Given the description of an element on the screen output the (x, y) to click on. 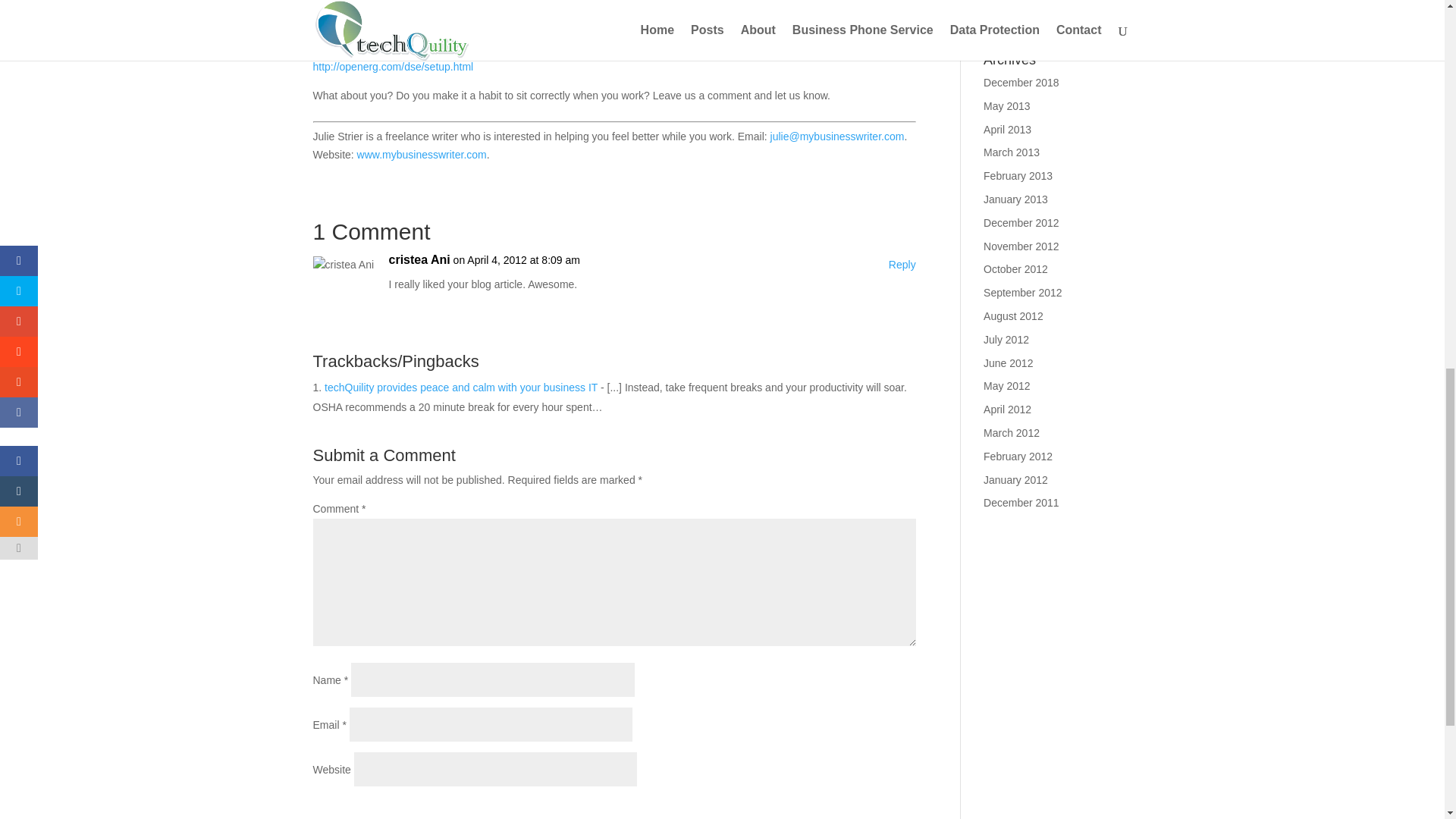
ergonomics.about.com (463, 9)
Submit Comment (840, 807)
MyBusinessWrtier.com (421, 154)
Nismat.org (388, 37)
Reply (901, 265)
Openerg.com (393, 66)
www.mybusinesswriter.com (421, 154)
techQuility provides peace and calm with your business IT (460, 387)
Submit Comment (840, 807)
